Given the description of an element on the screen output the (x, y) to click on. 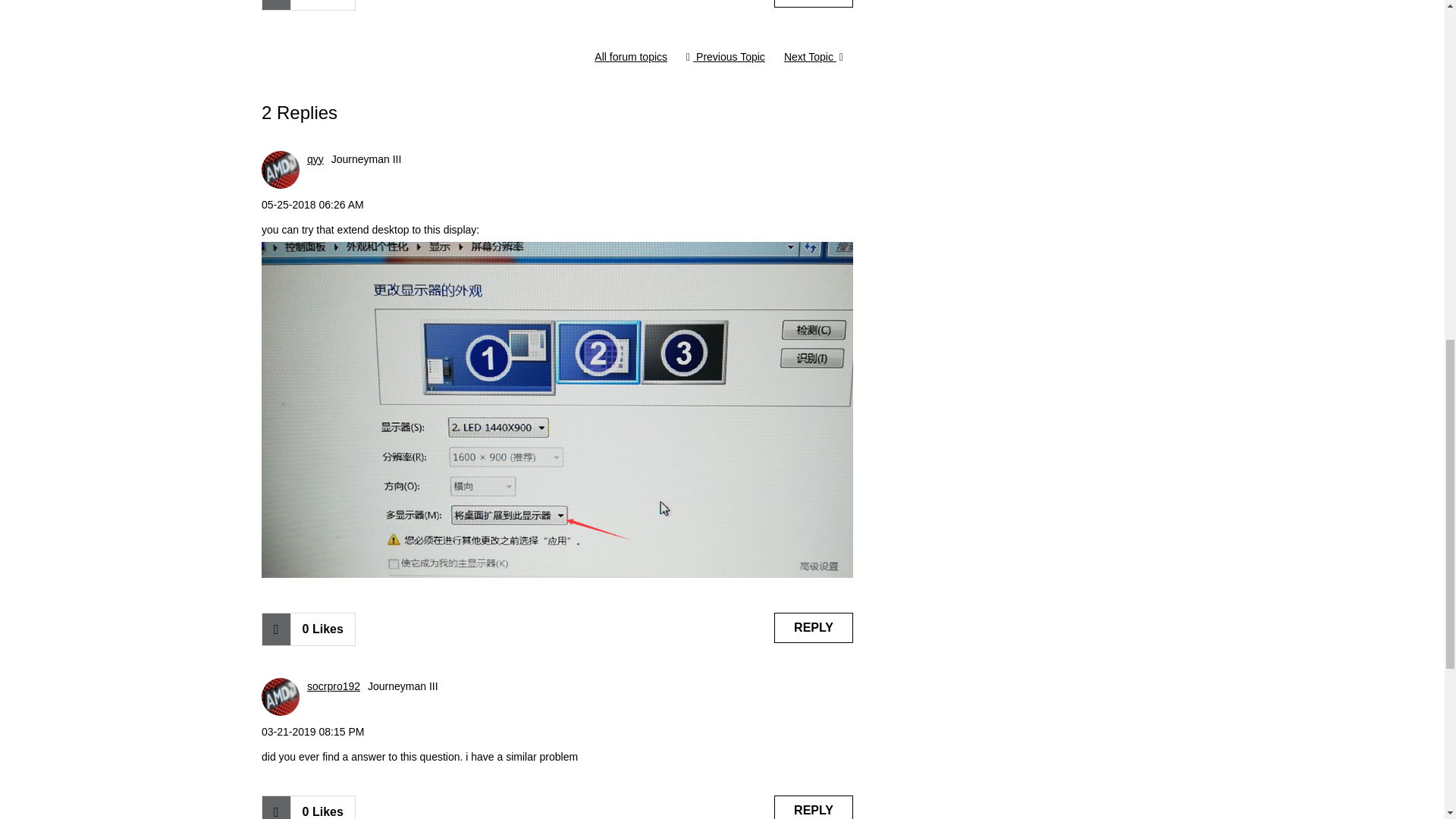
Click here to give likes to this post. (275, 4)
The total number of likes this post has received. (322, 4)
